Given the description of an element on the screen output the (x, y) to click on. 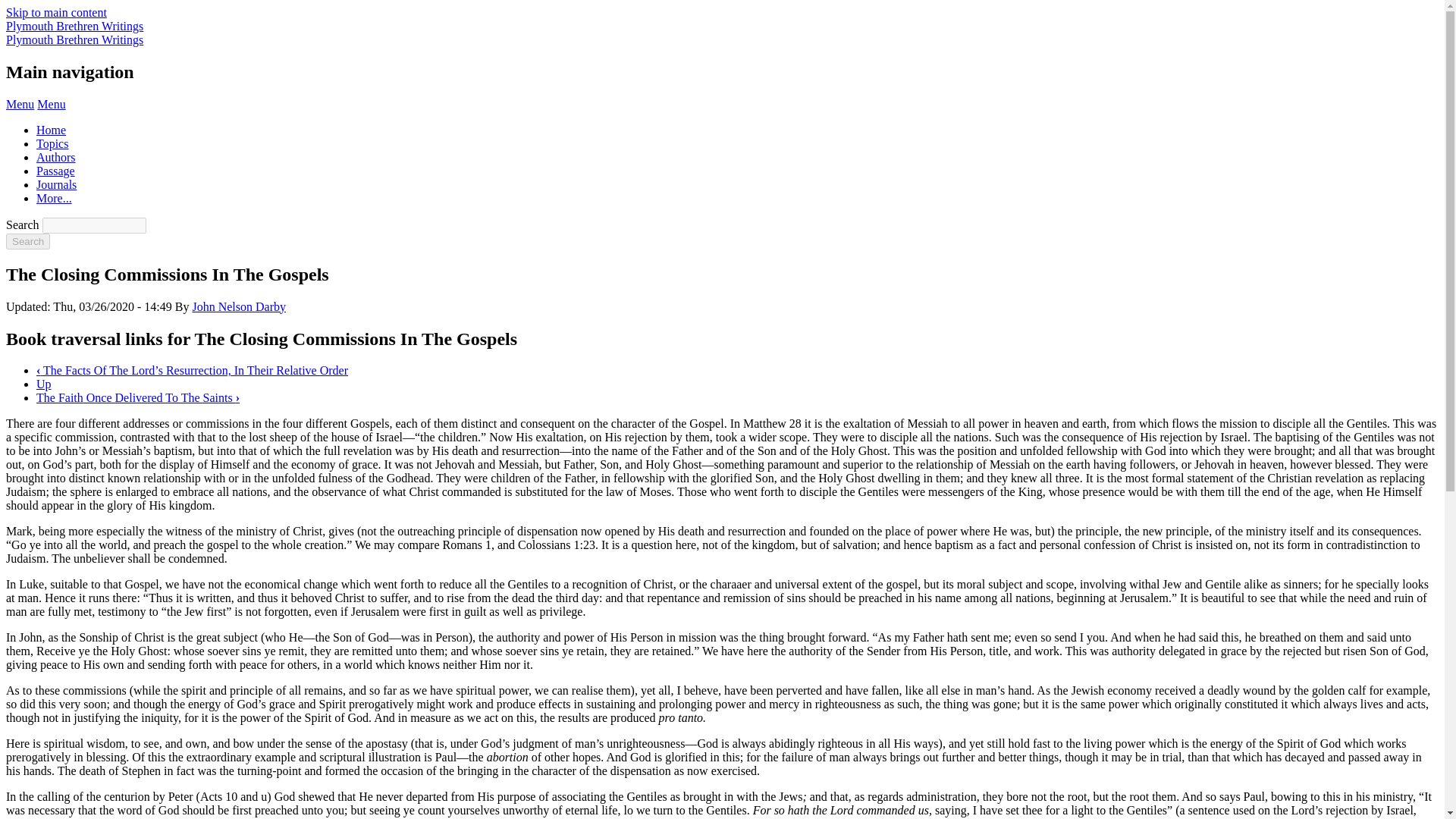
Go to next page (138, 397)
Passage (55, 170)
Enter the terms you wish to search for. (94, 225)
Search (27, 241)
Plymouth Brethren Writings (73, 25)
John Nelson Darby (238, 306)
Authors (55, 156)
Topics (52, 143)
Home (73, 39)
Menu (51, 103)
Go to parent page (43, 383)
Skip to main content (55, 11)
Home (73, 25)
Search (27, 241)
Menu (19, 103)
